Given the description of an element on the screen output the (x, y) to click on. 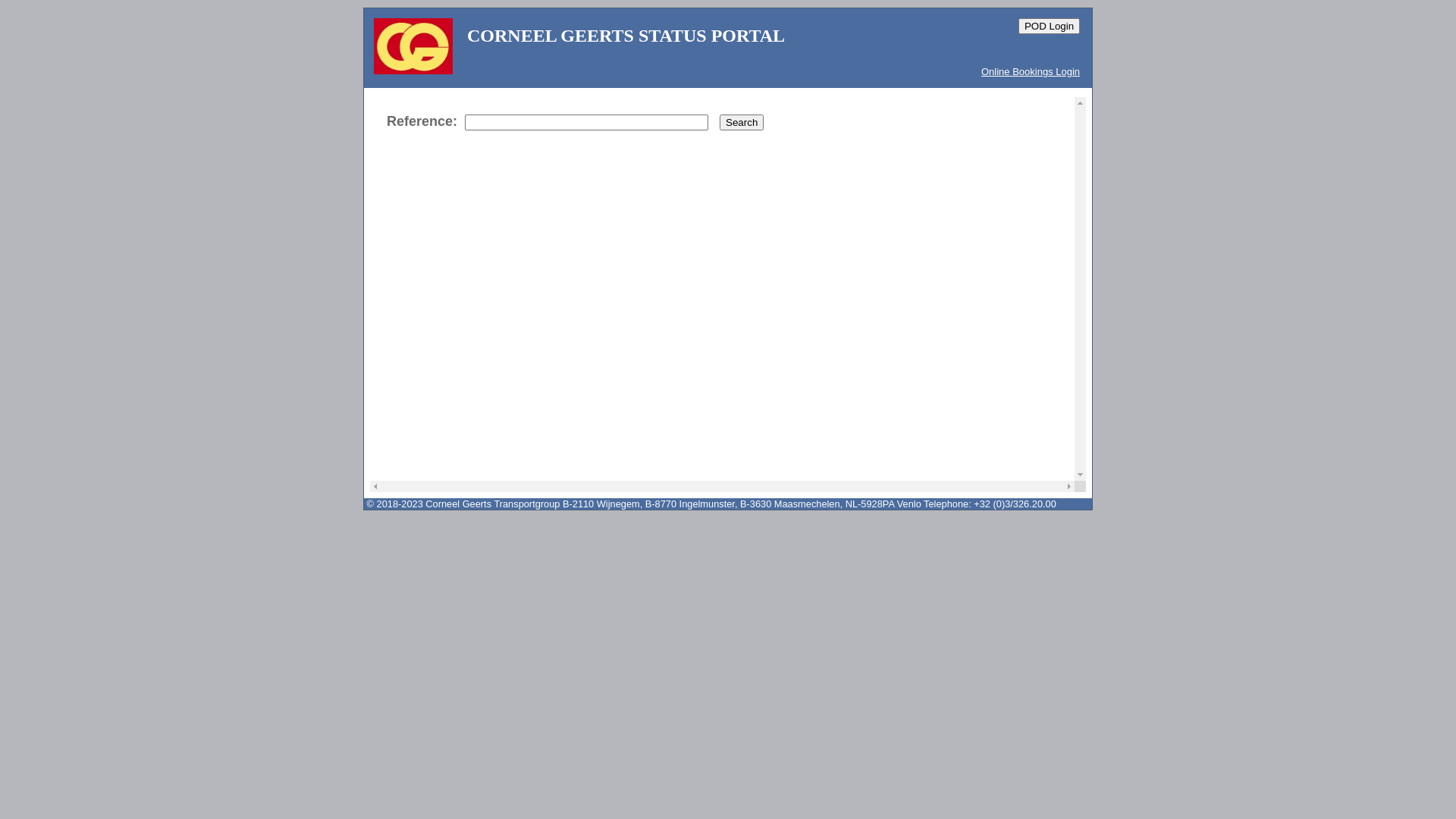
Search Element type: text (741, 122)
Online Bookings Login Element type: text (1030, 71)
POD Login Element type: text (1048, 26)
